Given the description of an element on the screen output the (x, y) to click on. 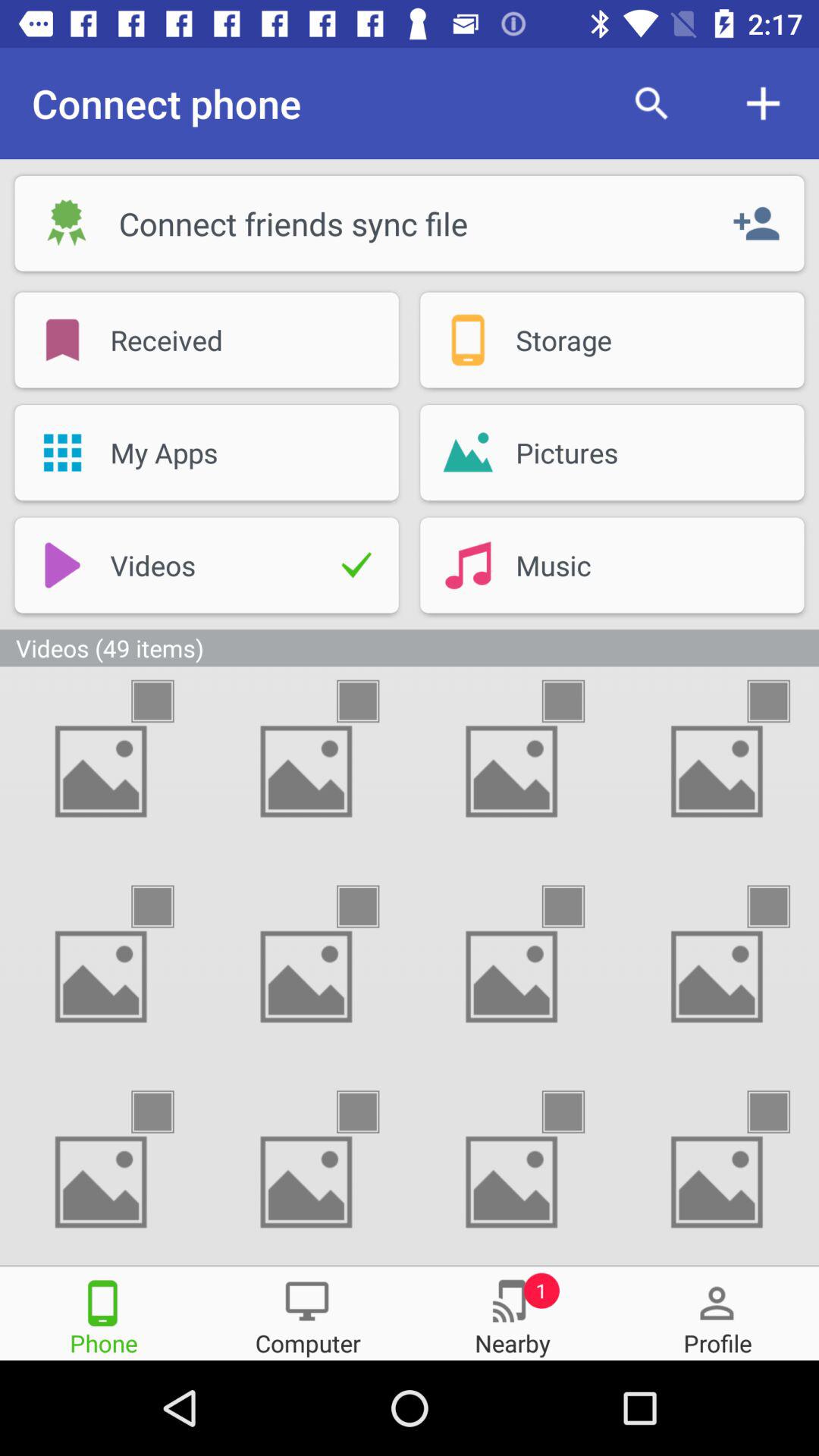
select file (576, 700)
